Given the description of an element on the screen output the (x, y) to click on. 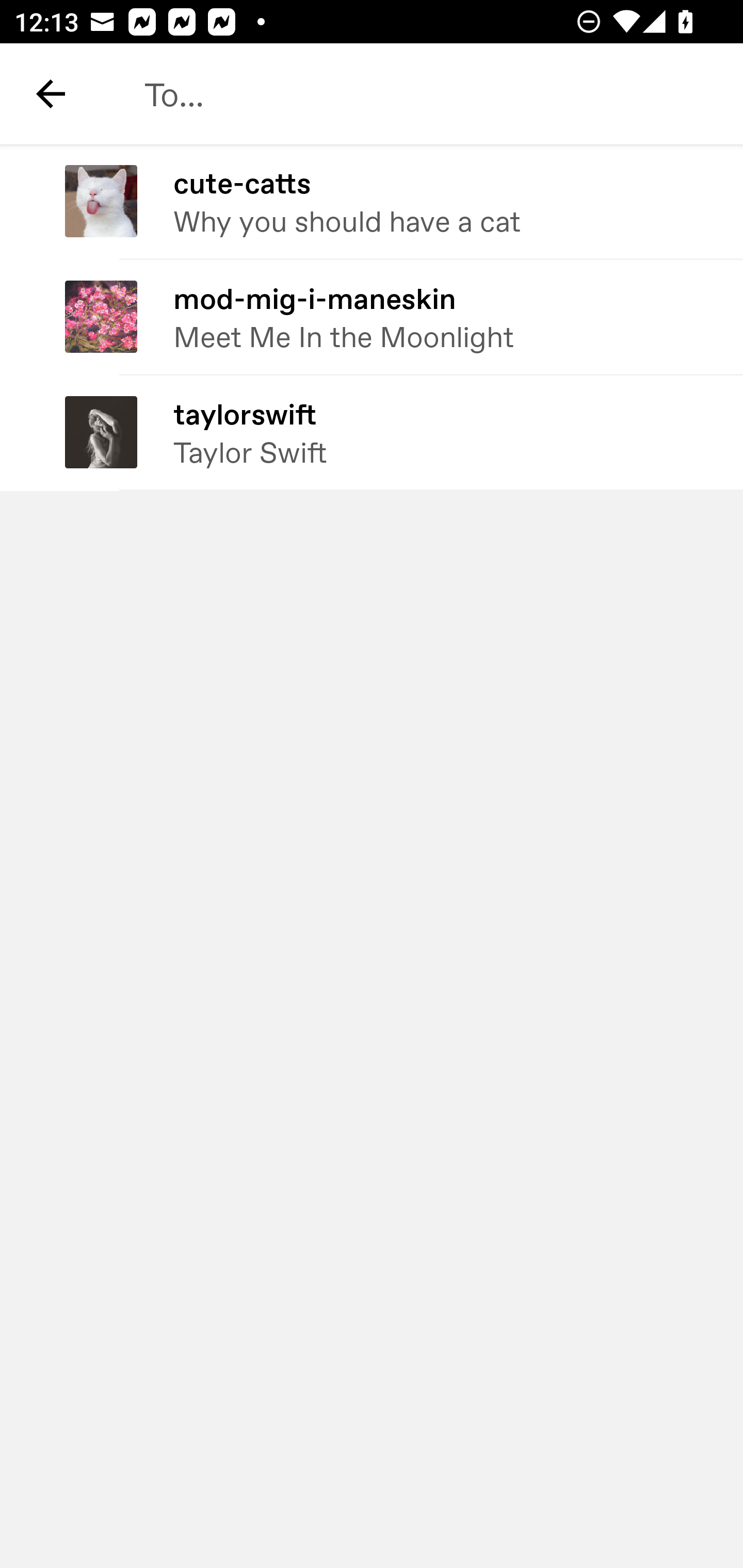
Navigate up (50, 93)
To… (422, 93)
cute-catts Why you should have a cat (371, 202)
mod-mig-i-maneskin Meet Me In the Moonlight (371, 317)
taylorswift Taylor Swift (371, 432)
